Given the description of an element on the screen output the (x, y) to click on. 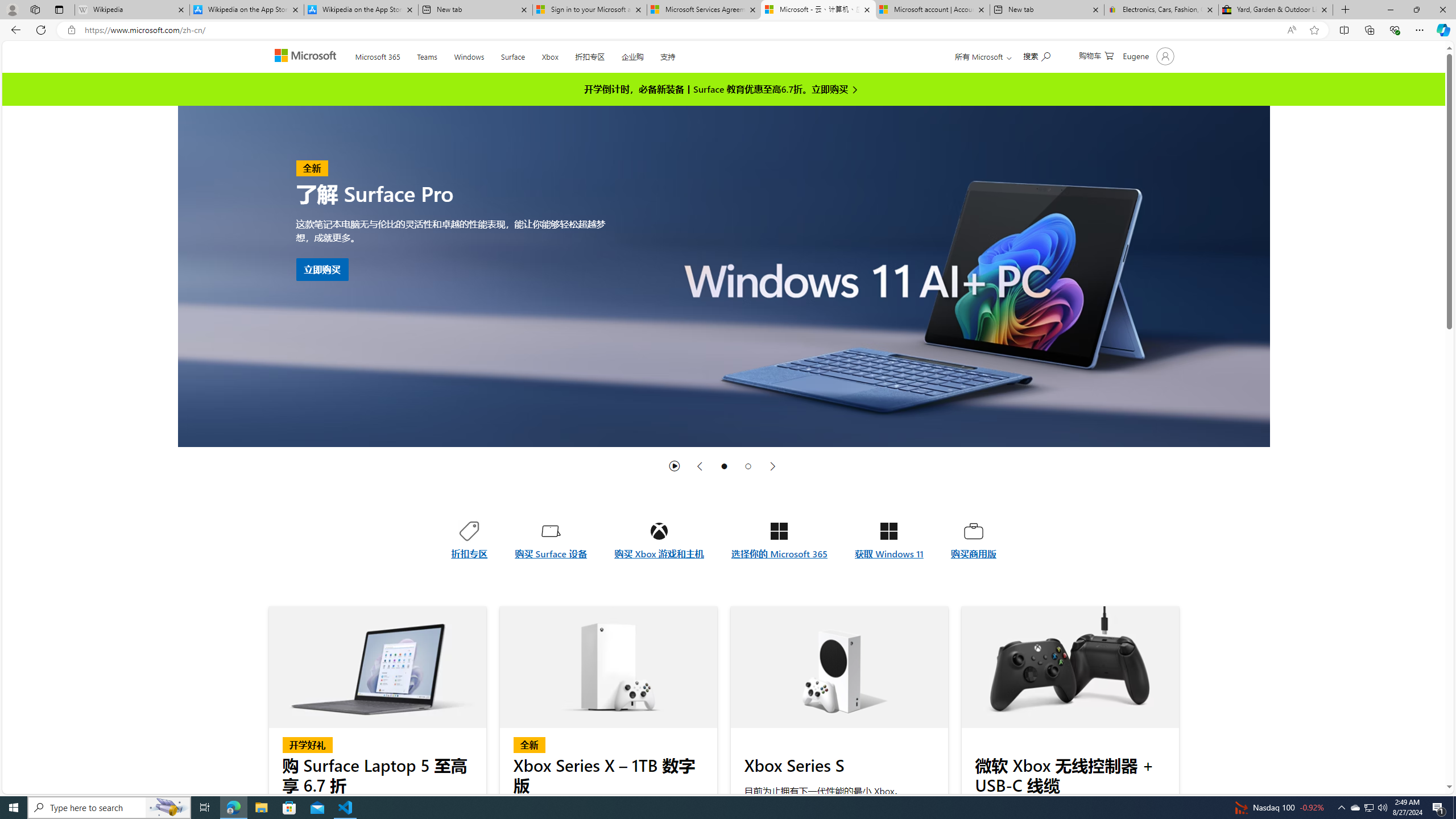
New tab (1047, 9)
